Given the description of an element on the screen output the (x, y) to click on. 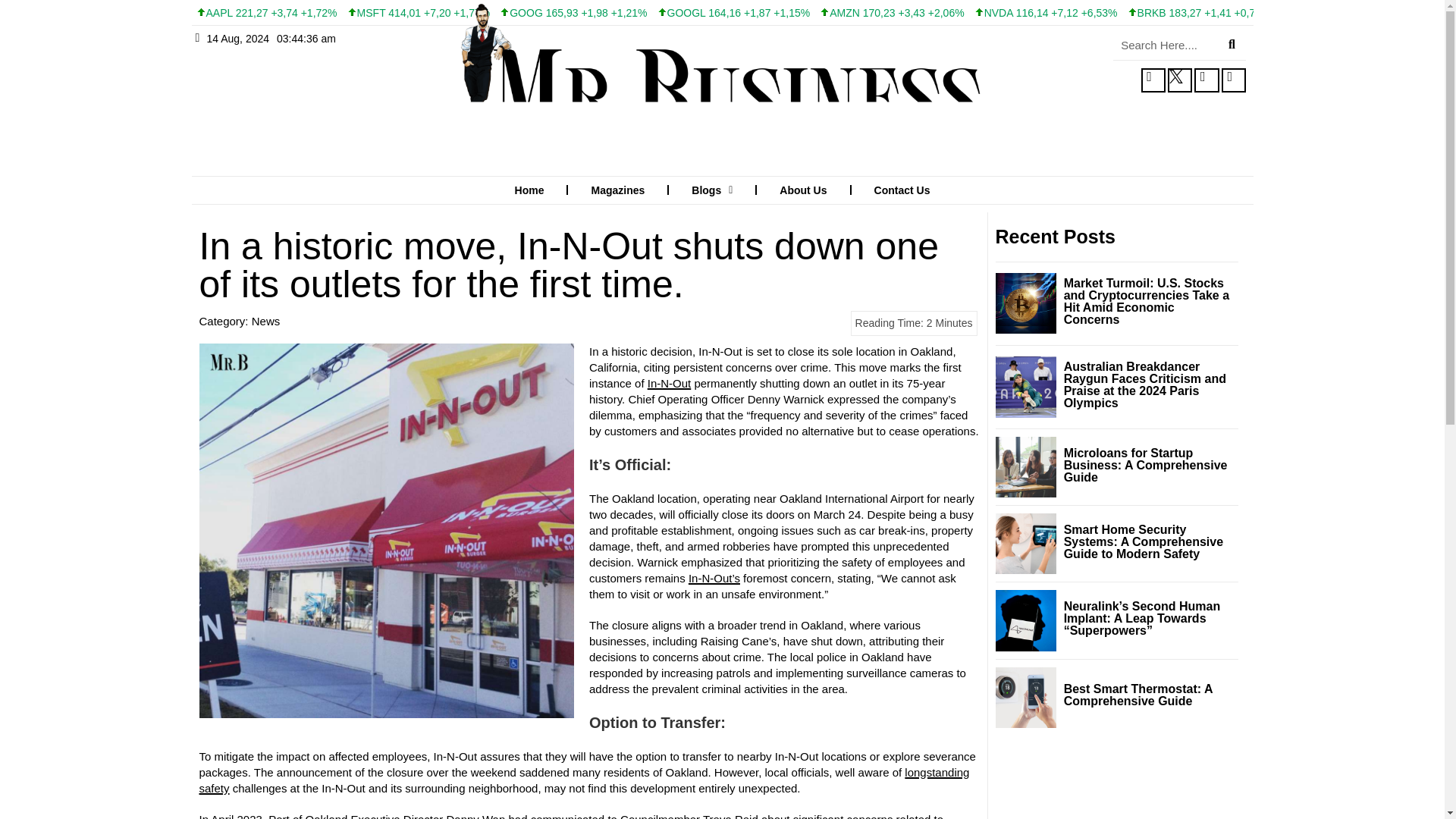
In-N-Out (669, 382)
longstanding safety (583, 779)
Blogs (712, 189)
News (266, 320)
Magazines (617, 189)
About Us (802, 189)
Contact Us (901, 189)
Home (529, 189)
